Given the description of an element on the screen output the (x, y) to click on. 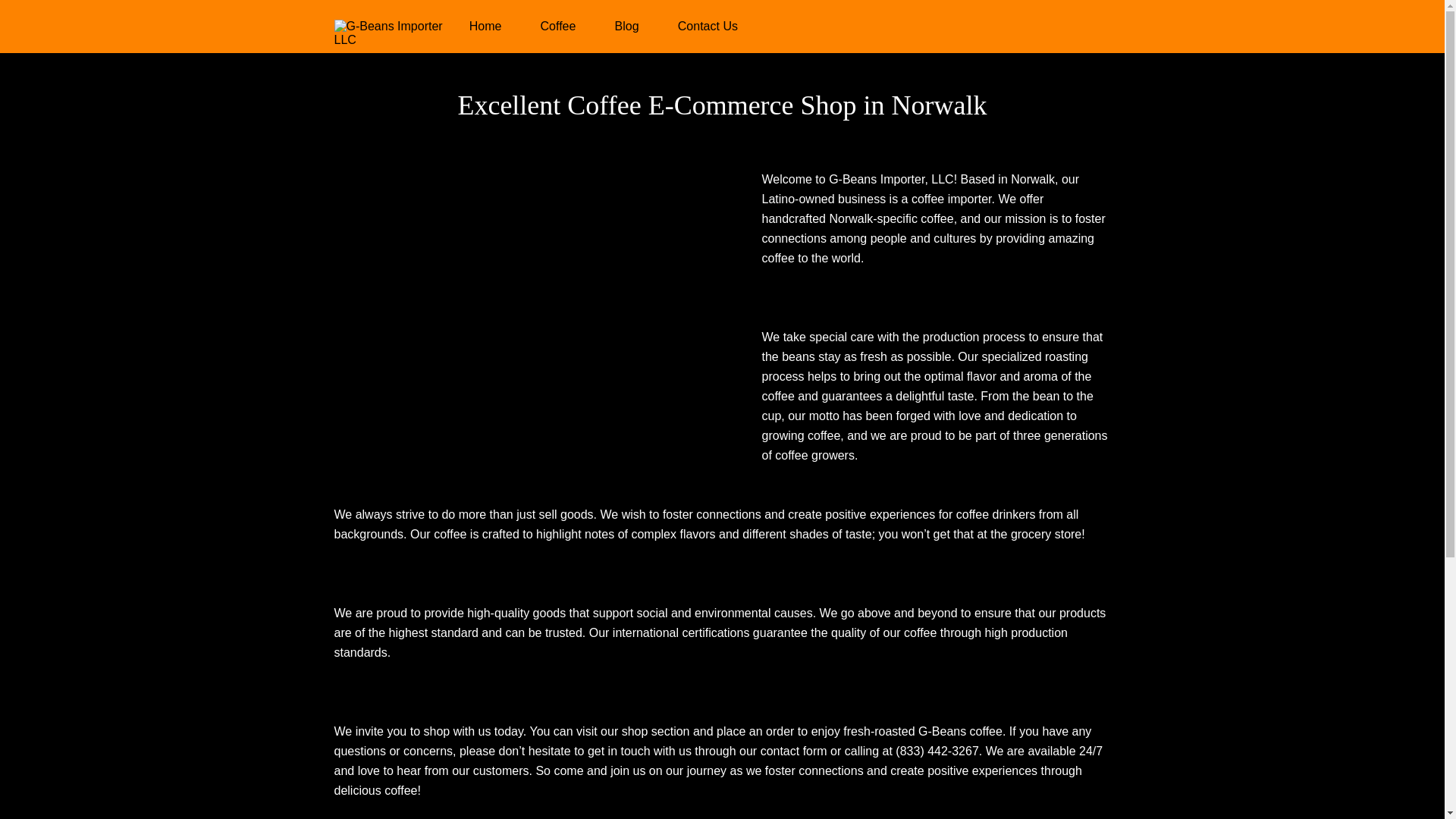
Home (485, 26)
Blog (626, 26)
Coffee (558, 26)
Contact Us (708, 26)
